Given the description of an element on the screen output the (x, y) to click on. 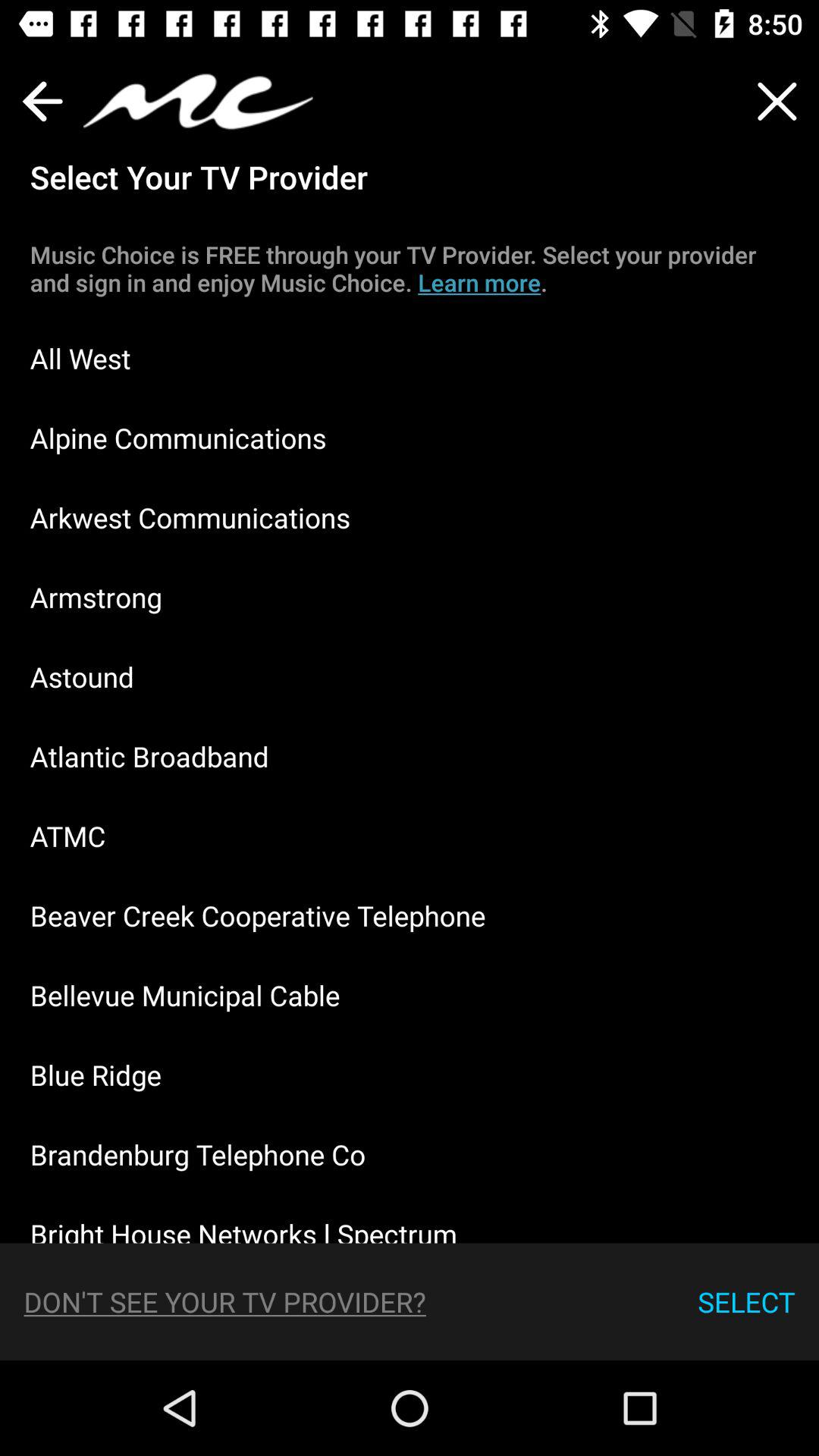
jump to the music choice is item (409, 268)
